Given the description of an element on the screen output the (x, y) to click on. 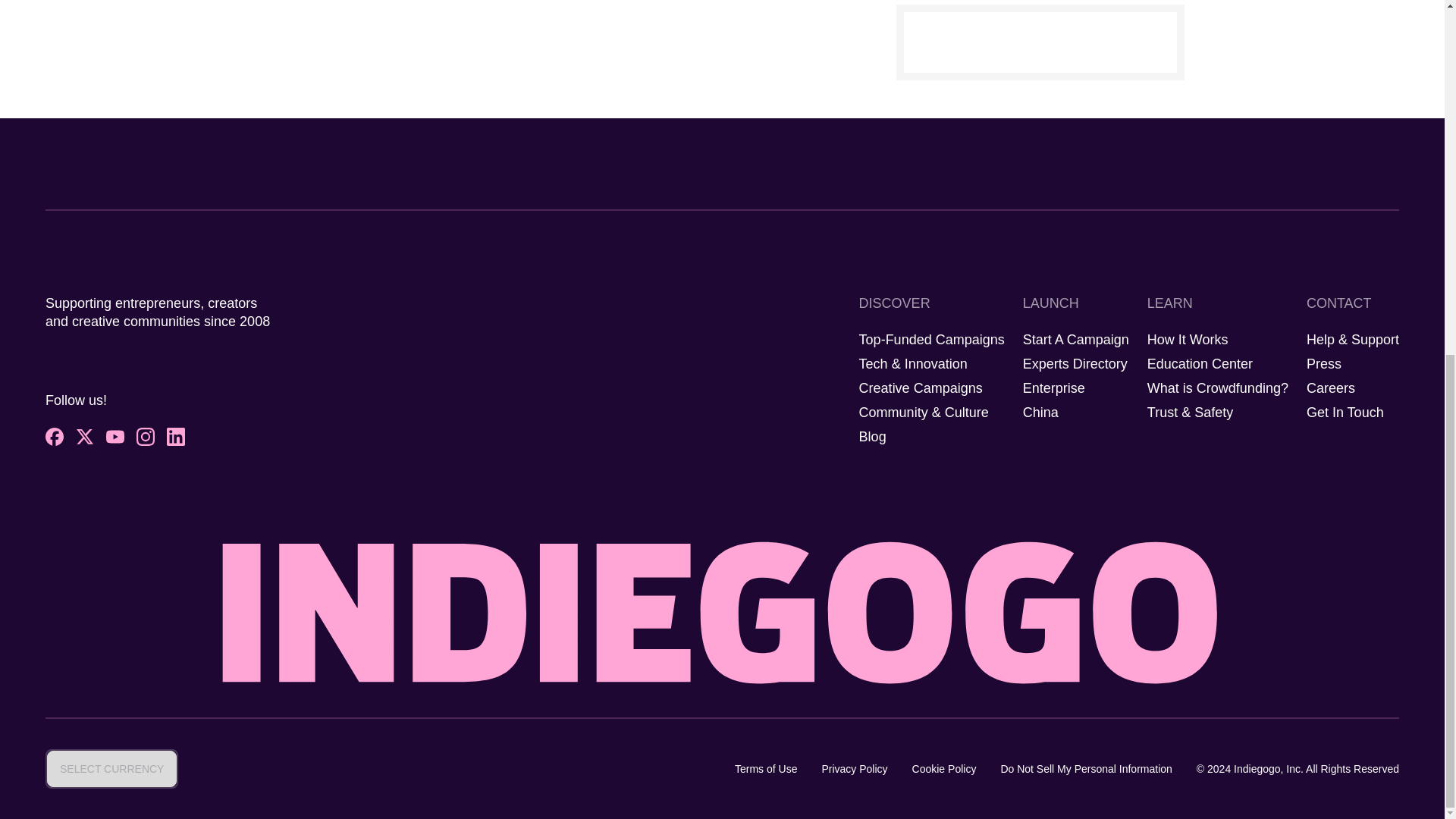
Do Not Sell My Personal Information (1086, 768)
Youtube (114, 436)
Experts Directory (1074, 363)
Education Center (1199, 363)
Social X (84, 436)
Youtube (114, 436)
Facebook (54, 436)
Instagram (145, 436)
Top-Funded Campaigns (931, 339)
